Given the description of an element on the screen output the (x, y) to click on. 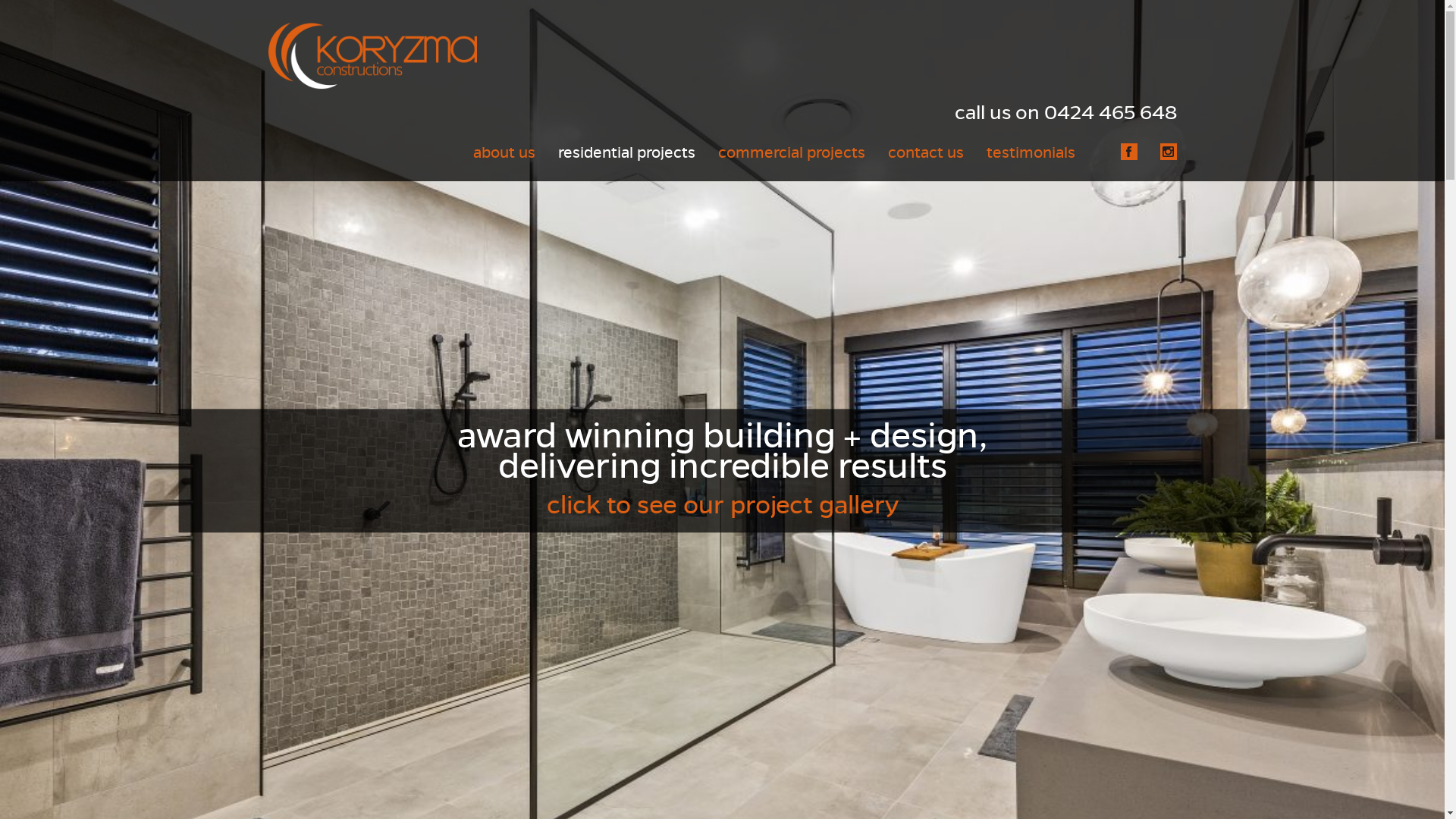
call us on 0424 465 648 Element type: text (1064, 117)
contact us Element type: text (925, 152)
commercial projects Element type: text (790, 152)
testimonials Element type: text (1029, 152)
residential projects Element type: text (626, 152)
about us Element type: text (504, 152)
click to see our project gallery Element type: text (721, 504)
